Given the description of an element on the screen output the (x, y) to click on. 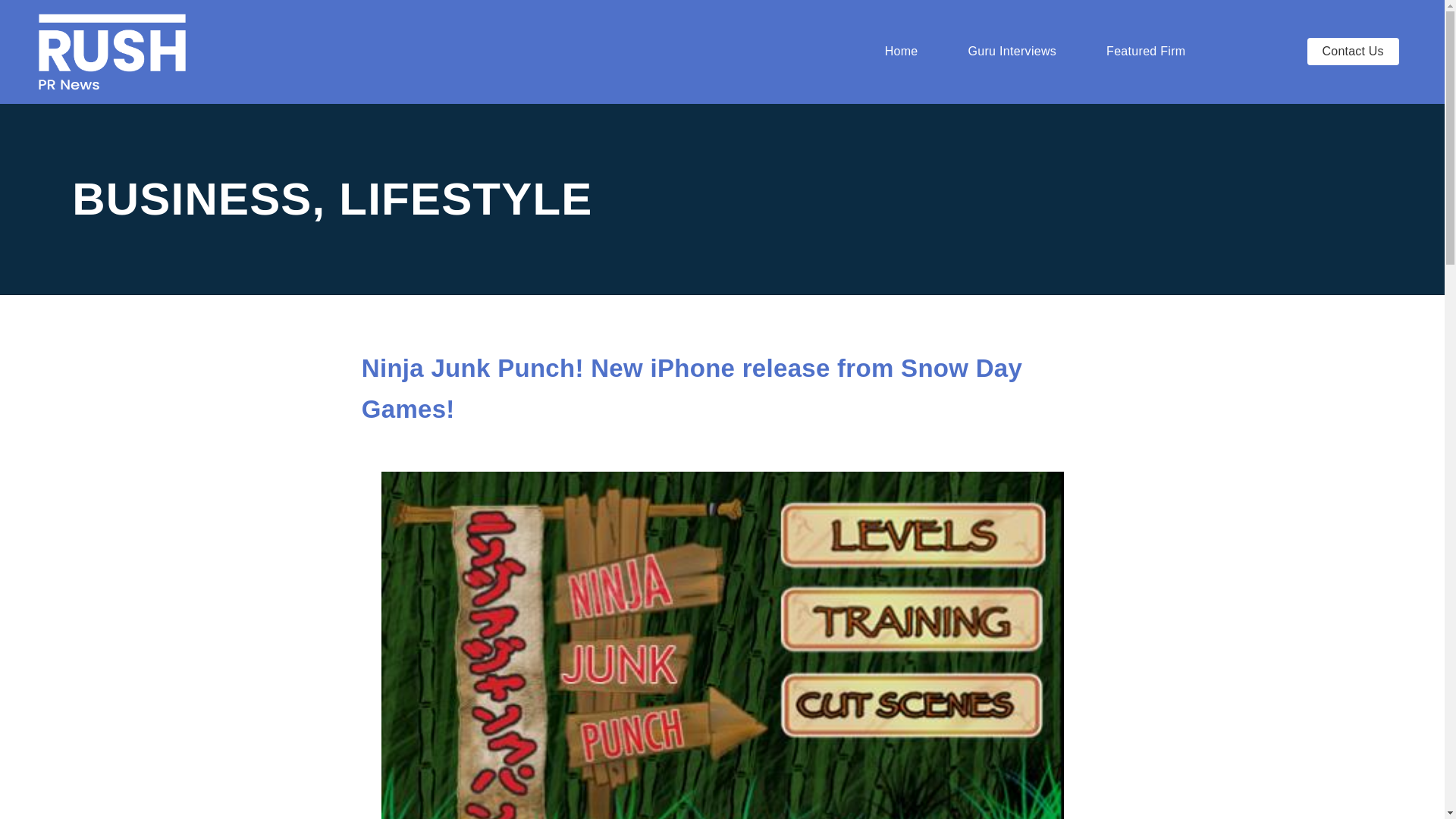
Featured Firm (1149, 51)
Contact Us (1353, 51)
Home (901, 51)
Guru Interviews (1012, 51)
